Given the description of an element on the screen output the (x, y) to click on. 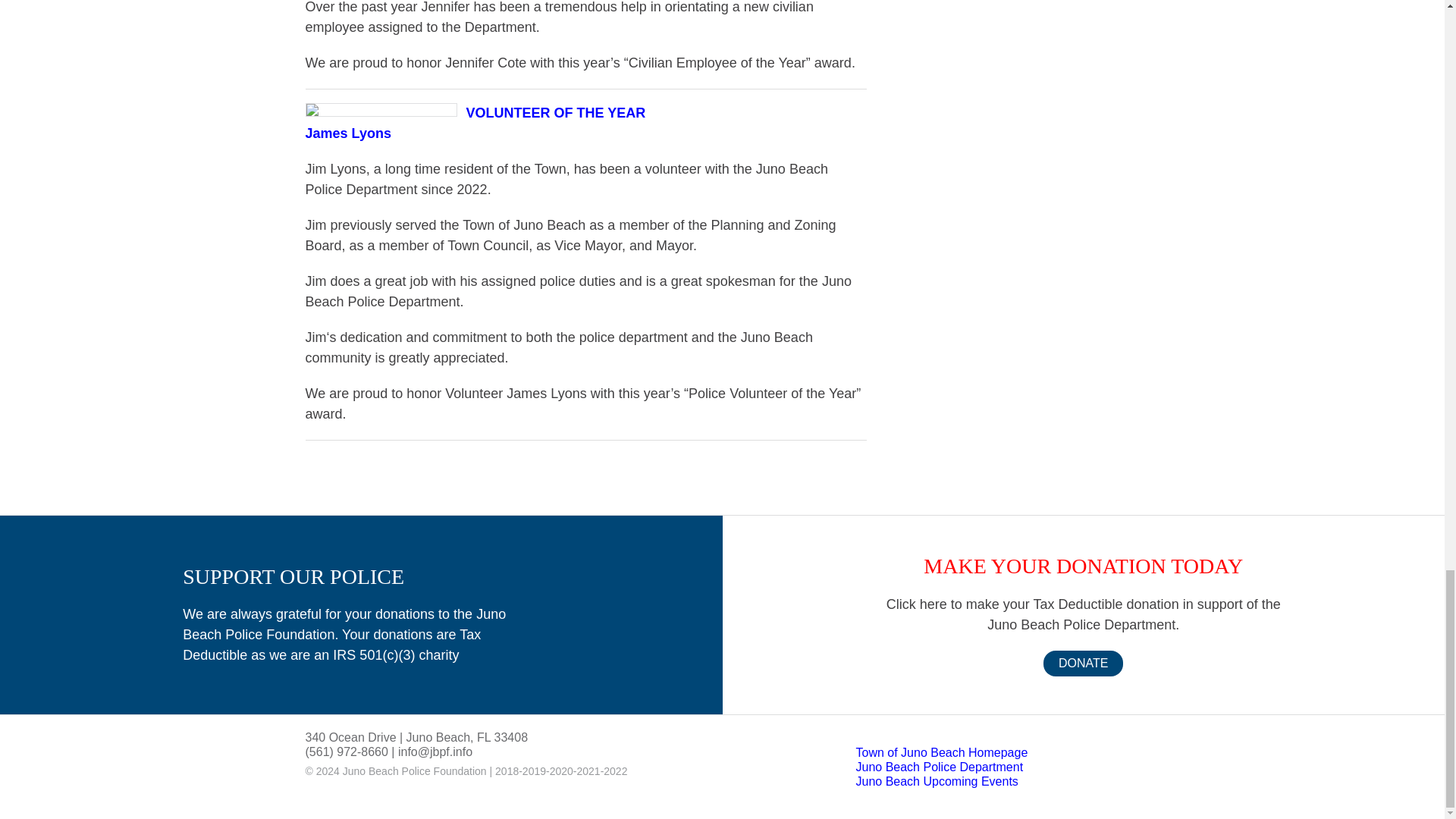
Town of Juno Beach Homepage (941, 752)
Juno Beach Police Department (939, 766)
DONATE (1082, 663)
Juno Beach Upcoming Events (936, 780)
